Given the description of an element on the screen output the (x, y) to click on. 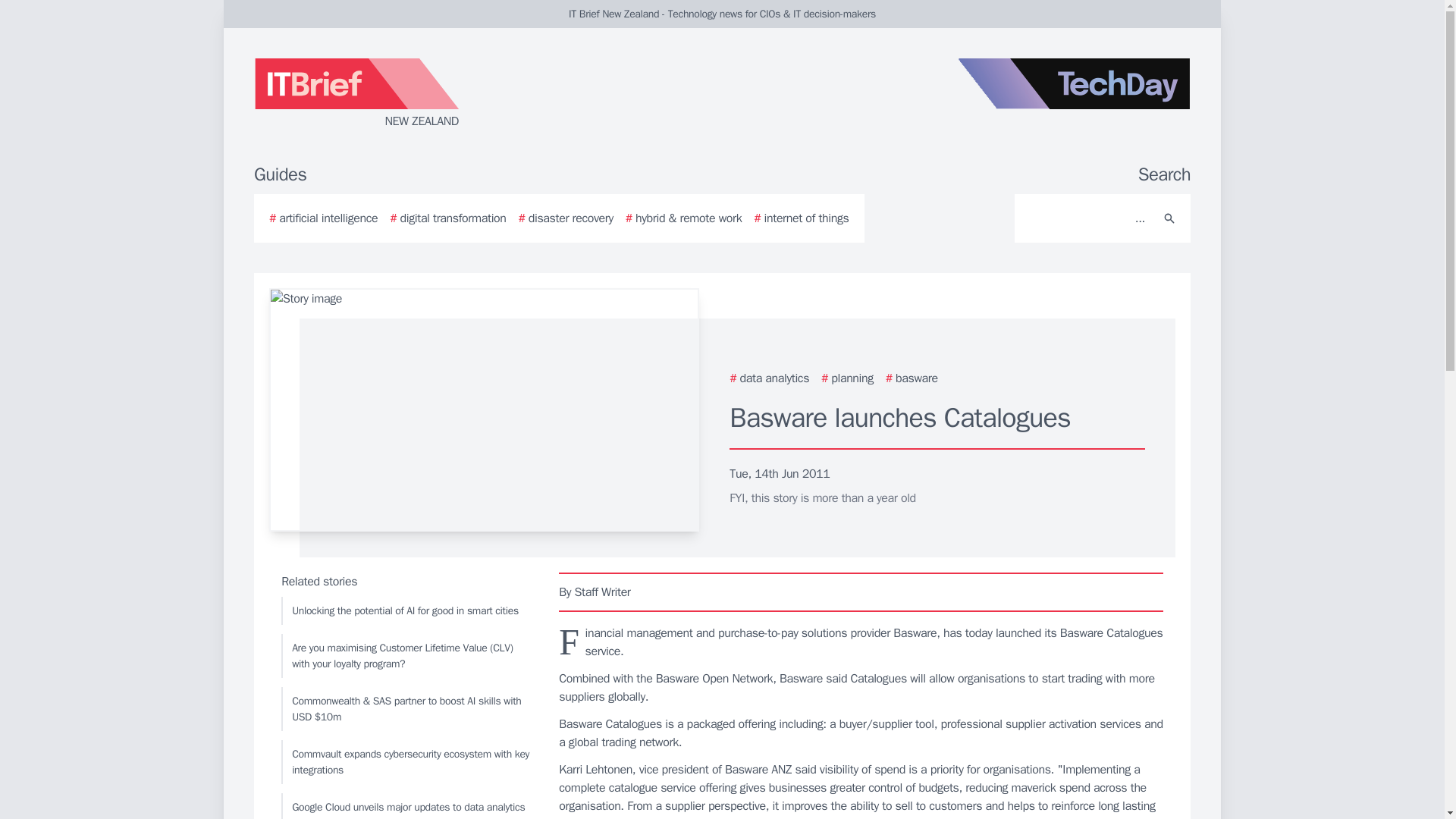
By Staff Writer (861, 592)
Google Cloud unveils major updates to data analytics tools (406, 806)
Unlocking the potential of AI for good in smart cities (406, 610)
NEW ZEALAND (435, 94)
